Given the description of an element on the screen output the (x, y) to click on. 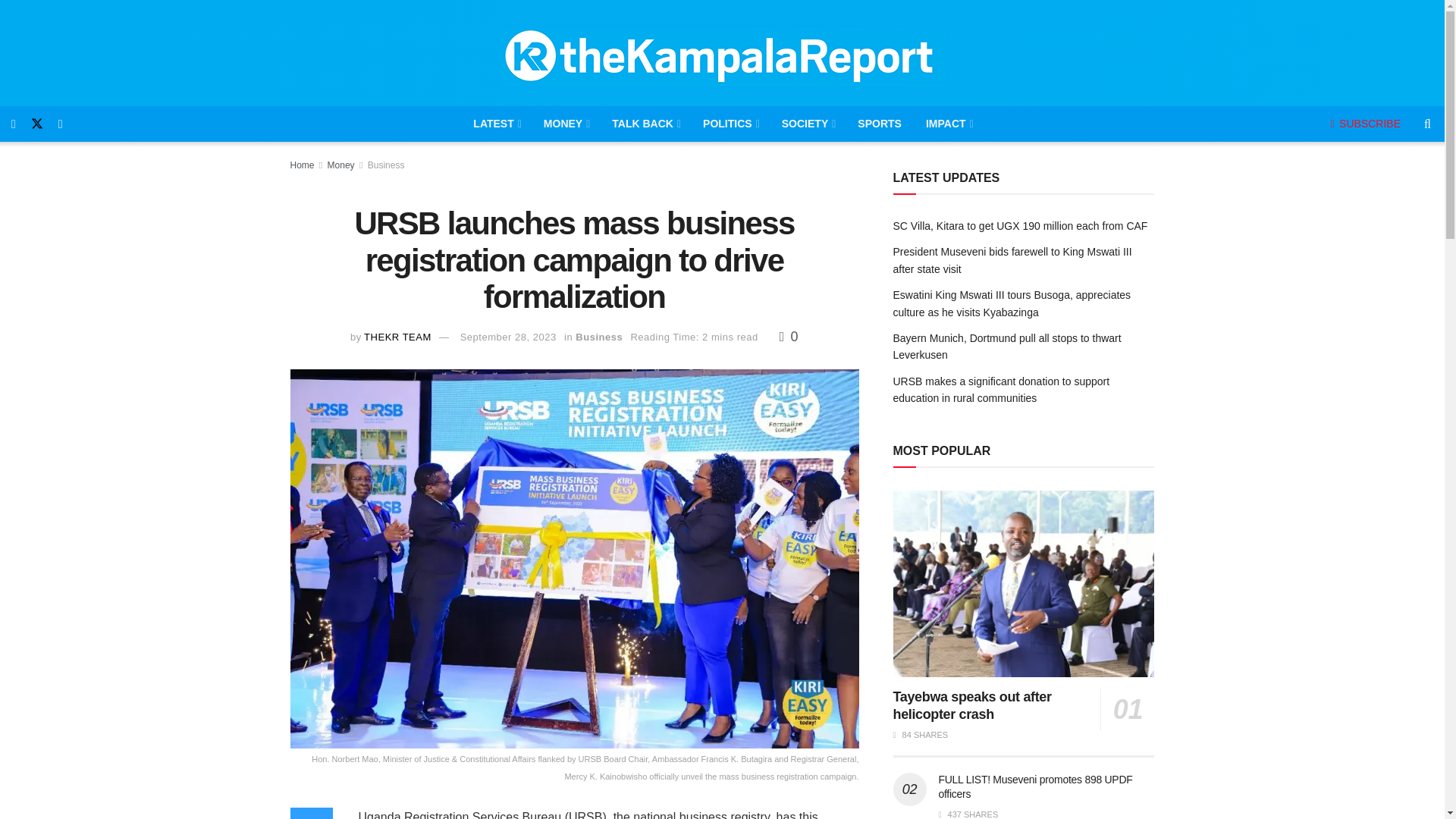
SPORTS (879, 123)
SUBSCRIBE (1365, 123)
POLITICS (730, 123)
LATEST (496, 123)
IMPACT (949, 123)
SOCIETY (807, 123)
TALK BACK (644, 123)
MONEY (565, 123)
